Given the description of an element on the screen output the (x, y) to click on. 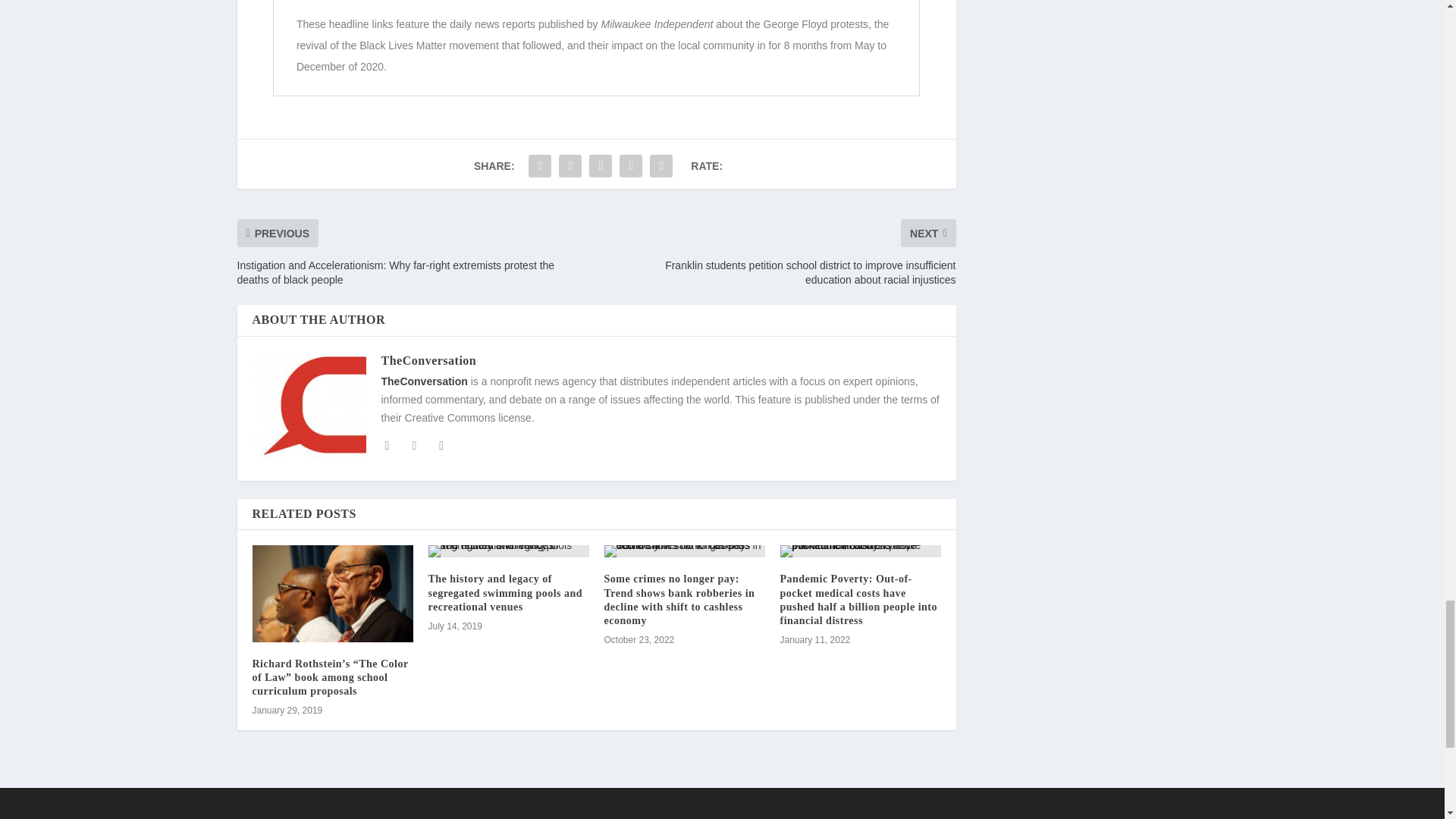
View all posts by TheConversation (428, 359)
